Given the description of an element on the screen output the (x, y) to click on. 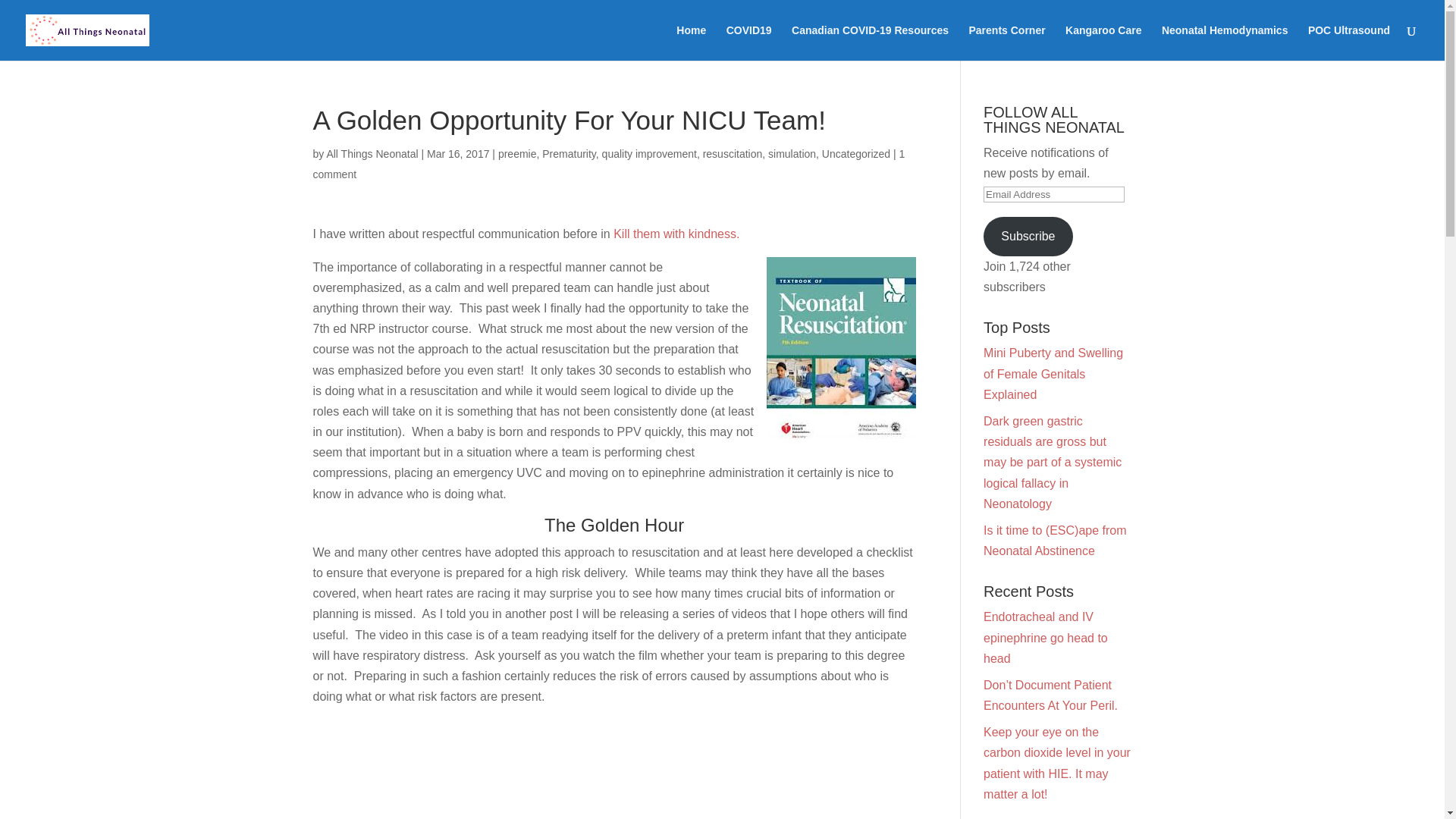
Parents Corner (1007, 42)
simulation (791, 153)
All Things Neonatal (371, 153)
Neonatal Hemodynamics (1224, 42)
Posts by All Things Neonatal (371, 153)
quality improvement (649, 153)
resuscitation (732, 153)
1 comment (608, 164)
Canadian COVID-19 Resources (870, 42)
